Given the description of an element on the screen output the (x, y) to click on. 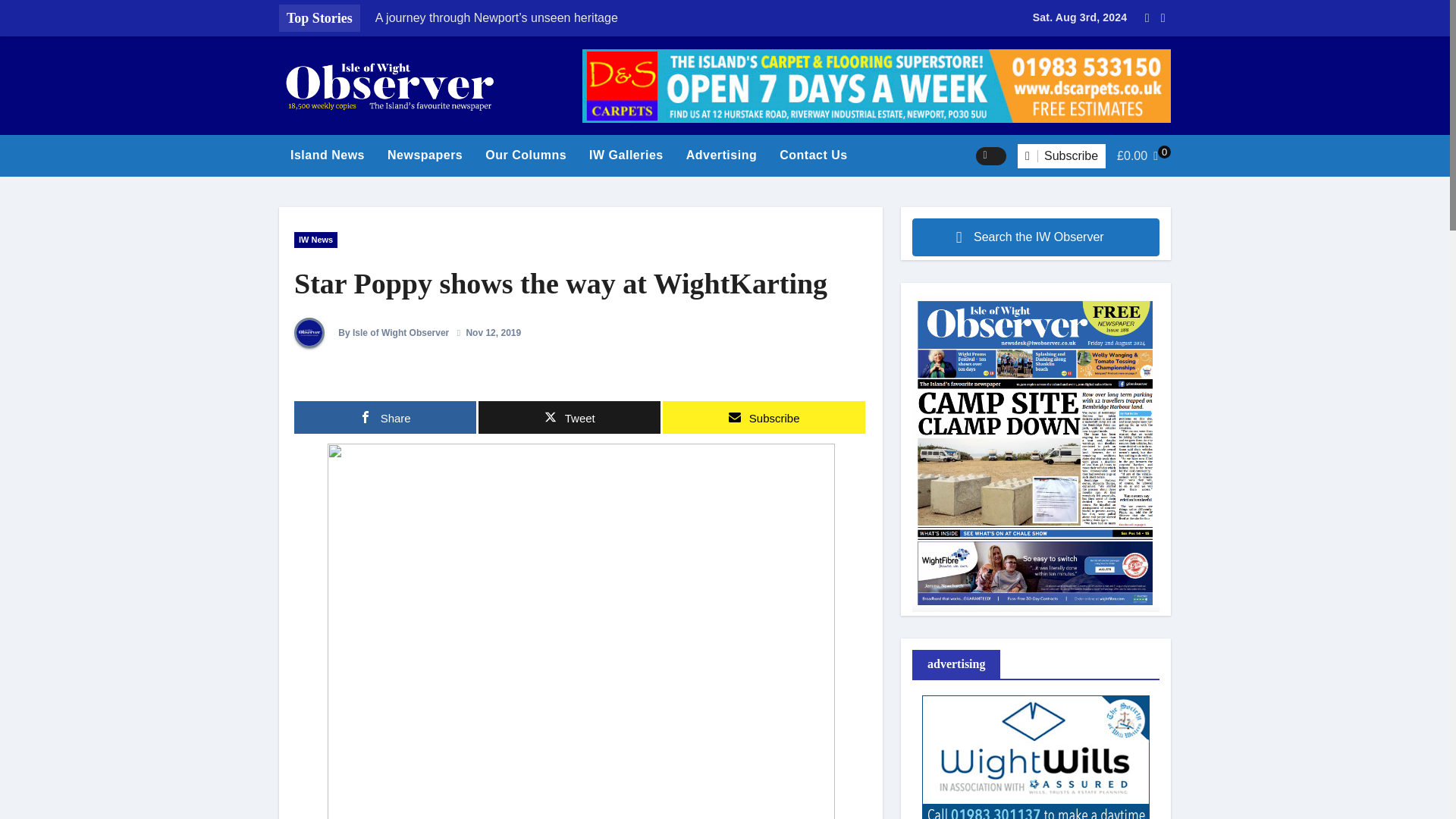
Island News (327, 155)
Our Columns (526, 155)
Newspapers (424, 155)
